Given the description of an element on the screen output the (x, y) to click on. 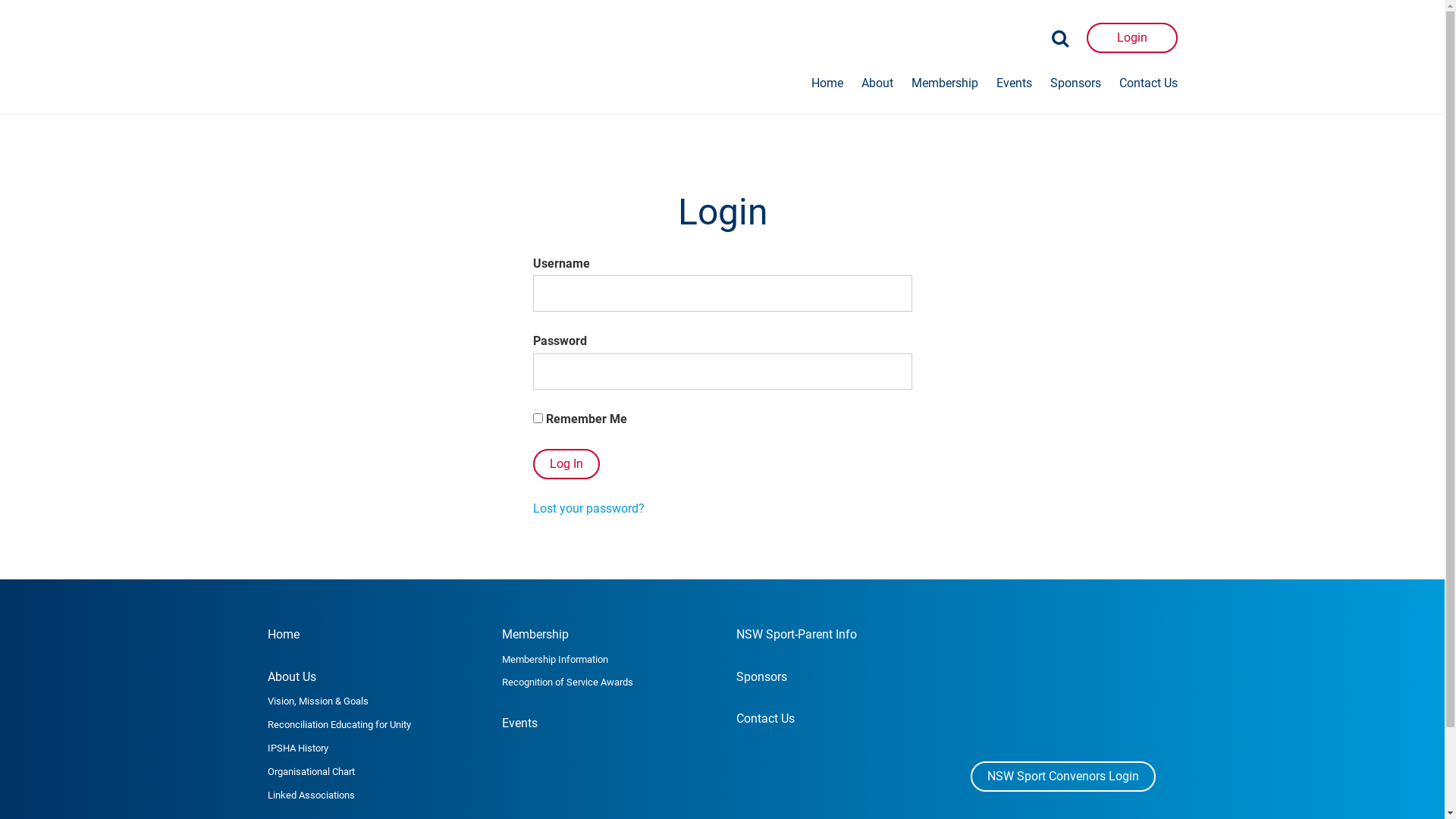
Vision, Mission & Goals Element type: text (316, 700)
Contact Us Element type: text (764, 718)
Organisational Chart Element type: text (310, 771)
Events Element type: text (519, 722)
NSW Sport-Parent Info Element type: text (795, 634)
Membership Element type: text (535, 634)
Linked Associations Element type: text (310, 794)
Reconciliation Educating for Unity Element type: text (338, 724)
Lost your password? Element type: text (587, 508)
IPSHA History Element type: text (296, 747)
Events Element type: text (1014, 82)
Contact Us Element type: text (1148, 82)
NSW Sport Convenors Login Element type: text (1062, 776)
About Us Element type: text (290, 675)
Membership Element type: text (944, 82)
About Element type: text (877, 82)
Home Element type: text (827, 82)
Membership Information Element type: text (555, 659)
Sponsors Element type: text (760, 675)
Sponsors Element type: text (1074, 82)
Log In Element type: text (565, 463)
Home Element type: text (282, 634)
Login Element type: text (1130, 37)
Recognition of Service Awards Element type: text (567, 681)
